Given the description of an element on the screen output the (x, y) to click on. 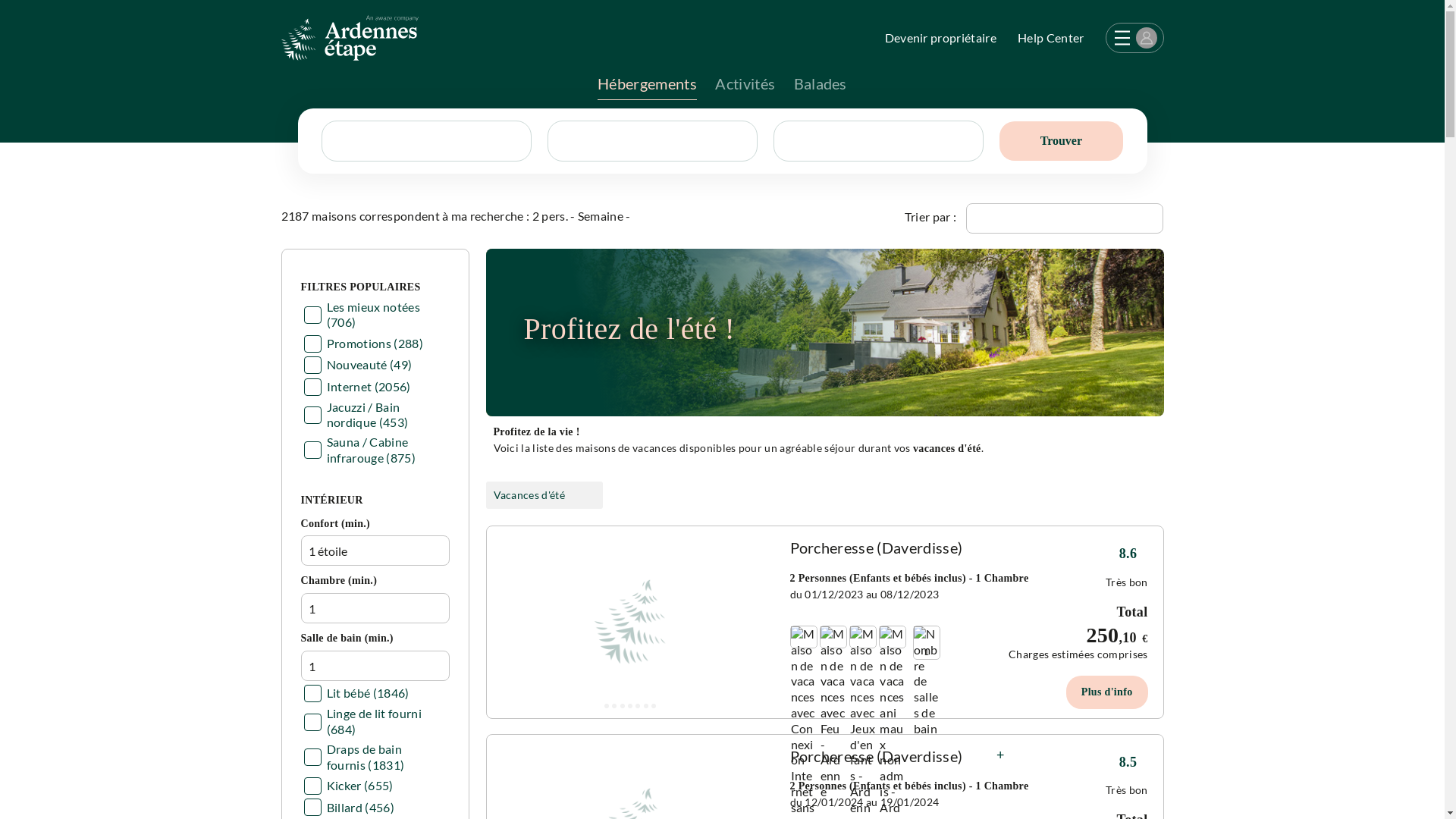
Internet (2056) Element type: text (357, 387)
Trouver Element type: text (1061, 140)
Porcheresse (Daverdisse) Element type: text (876, 755)
Billard (456) Element type: text (349, 807)
Linge de lit fourni (684) Element type: text (372, 721)
Kicker (655) Element type: text (348, 785)
Plus d'info Element type: hover (1106, 611)
du 01/12/2023 au 08/12/2023 Element type: text (864, 593)
0 1 2 3 4 5 6 Element type: text (630, 621)
Promotions (288) Element type: text (363, 343)
Nombre de salles de bain Element type: hover (926, 681)
Jacuzzi / Bain nordique (453) Element type: text (372, 415)
Maison de vacances avec Feu - Ardenne Element type: hover (833, 713)
Porcheresse (Daverdisse) Element type: text (876, 547)
1 Element type: text (908, 632)
du 12/01/2024 au 19/01/2024 Element type: text (864, 801)
Sauna / Cabine infrarouge (875) Element type: text (372, 450)
Balades Element type: text (820, 87)
Draps de bain fournis (1831) Element type: text (372, 757)
Help Center Element type: text (1050, 38)
Plus d'info Element type: text (1107, 692)
